Given the description of an element on the screen output the (x, y) to click on. 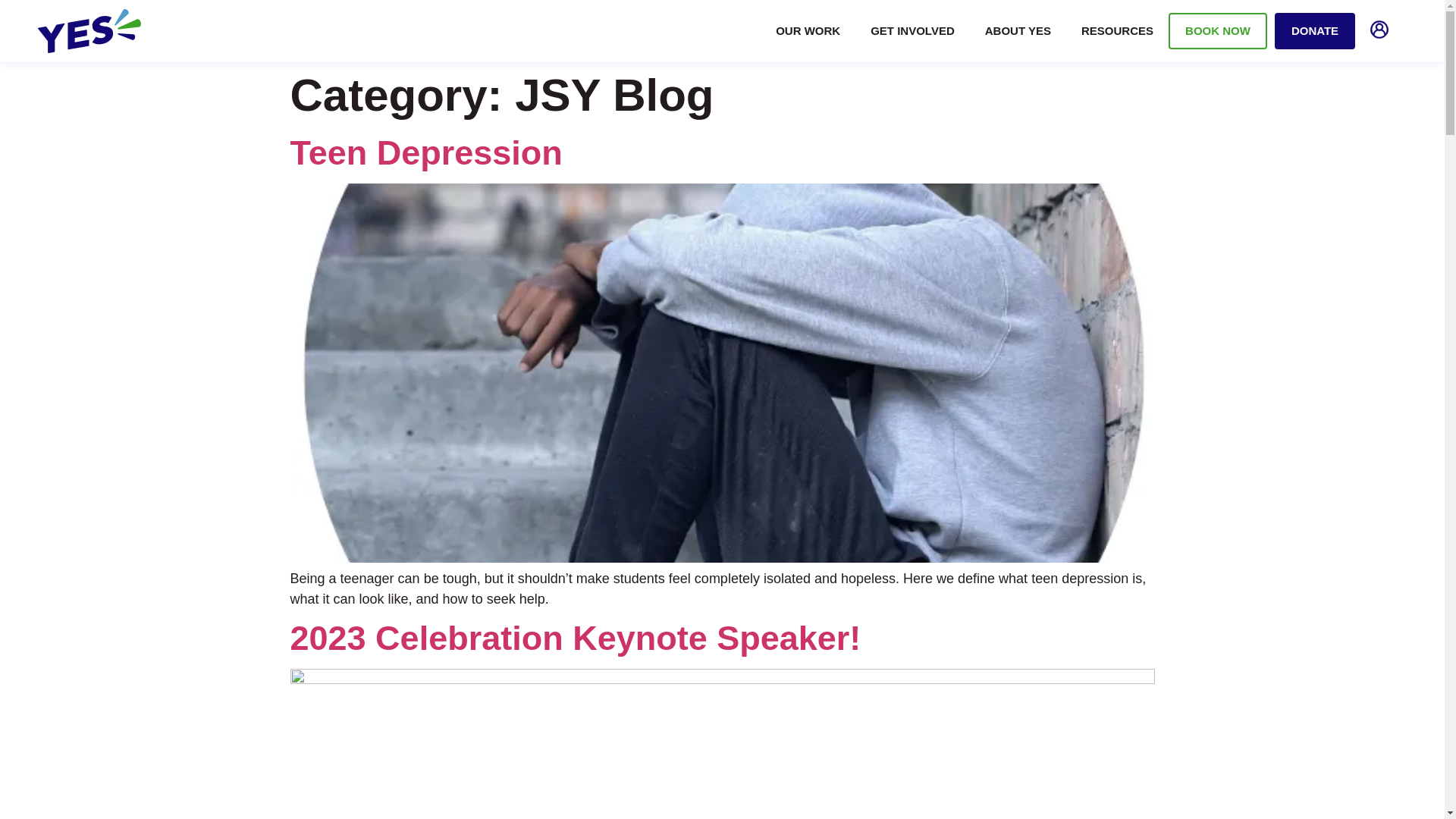
GET INVOLVED (912, 31)
RESOURCES (1117, 31)
DONATE (1315, 31)
BOOK NOW (1217, 31)
ABOUT YES (1017, 31)
OUR WORK (808, 31)
